Given the description of an element on the screen output the (x, y) to click on. 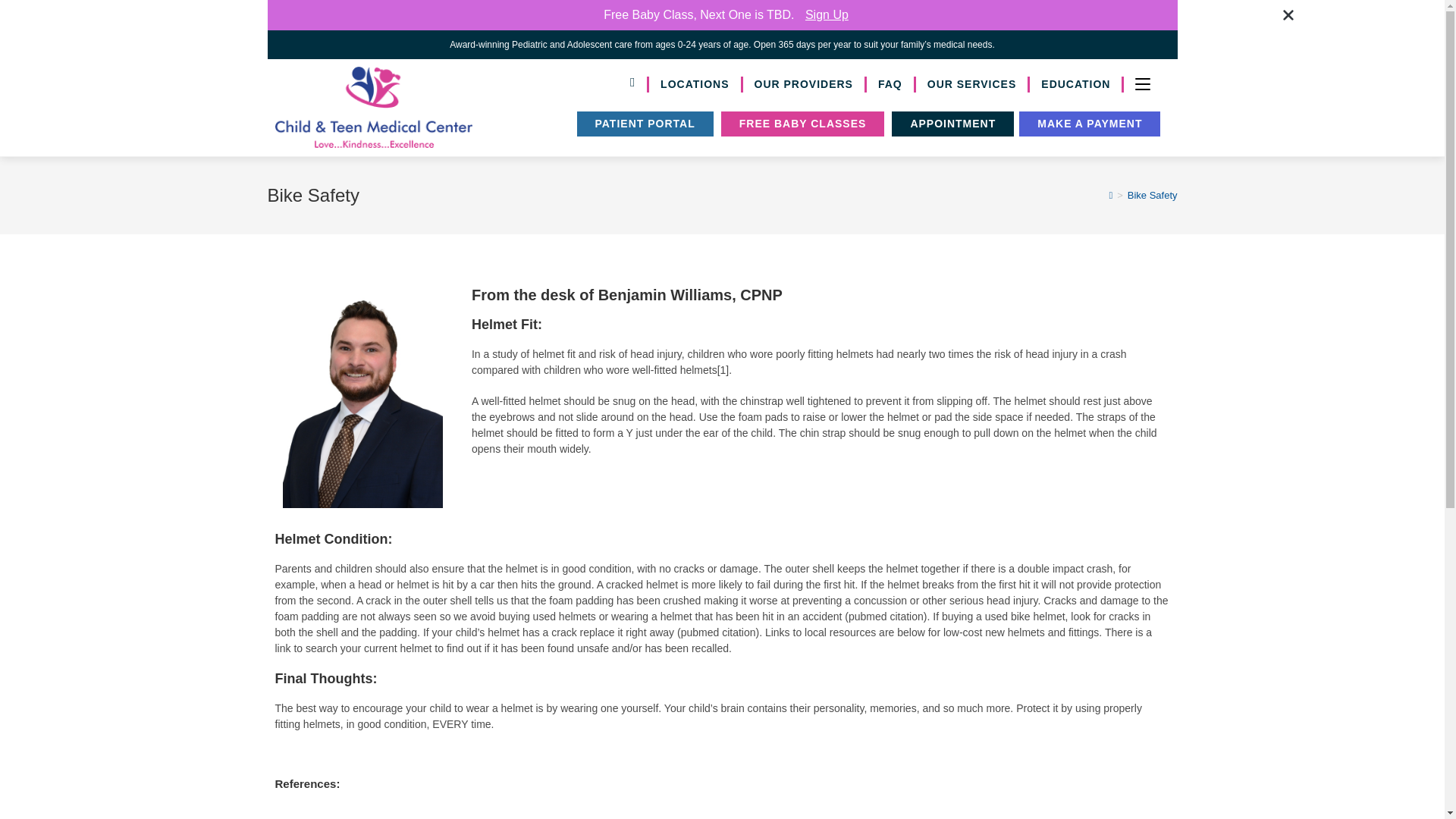
EDUCATION (1076, 84)
MAKE A PAYMENT (1089, 123)
Sign Up (826, 14)
Bike Safety (1151, 194)
OUR PROVIDERS (804, 84)
FAQ (890, 84)
LOCATIONS (695, 84)
PATIENT PORTAL (644, 123)
APPOINTMENT (952, 123)
FREE BABY CLASSES (802, 123)
